Given the description of an element on the screen output the (x, y) to click on. 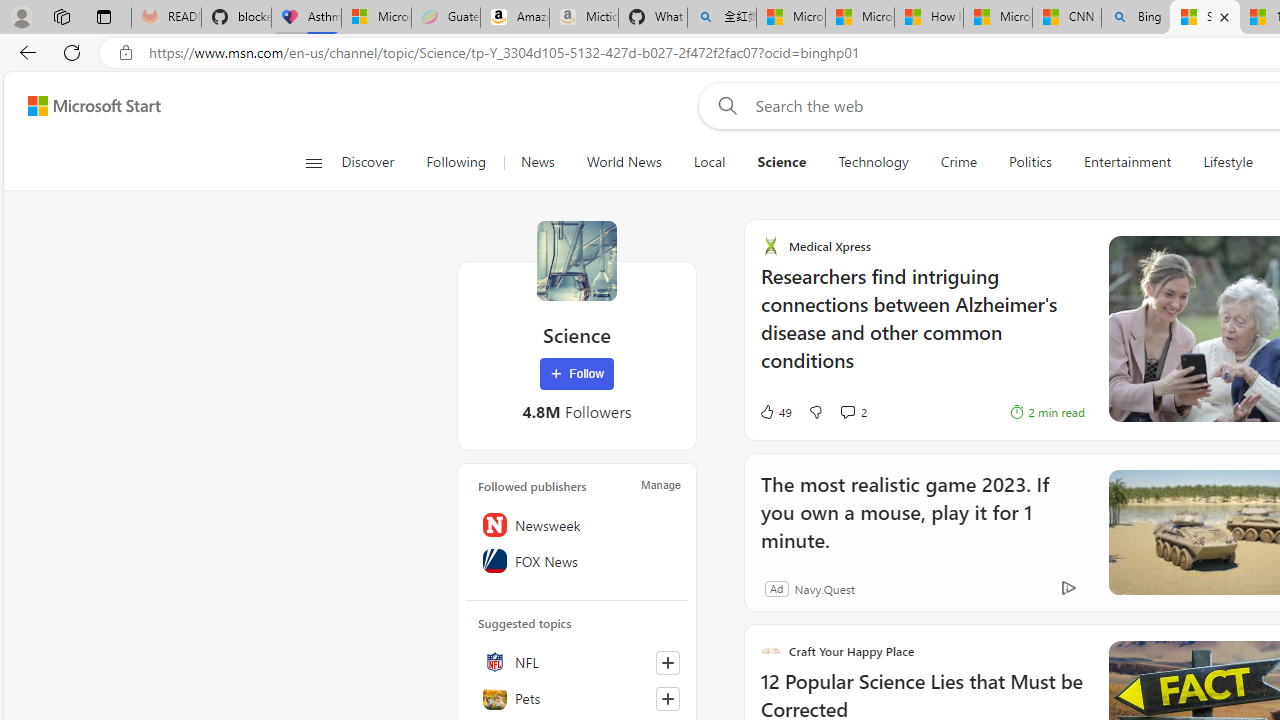
Asthma Inhalers: Names and Types (305, 17)
